Given the description of an element on the screen output the (x, y) to click on. 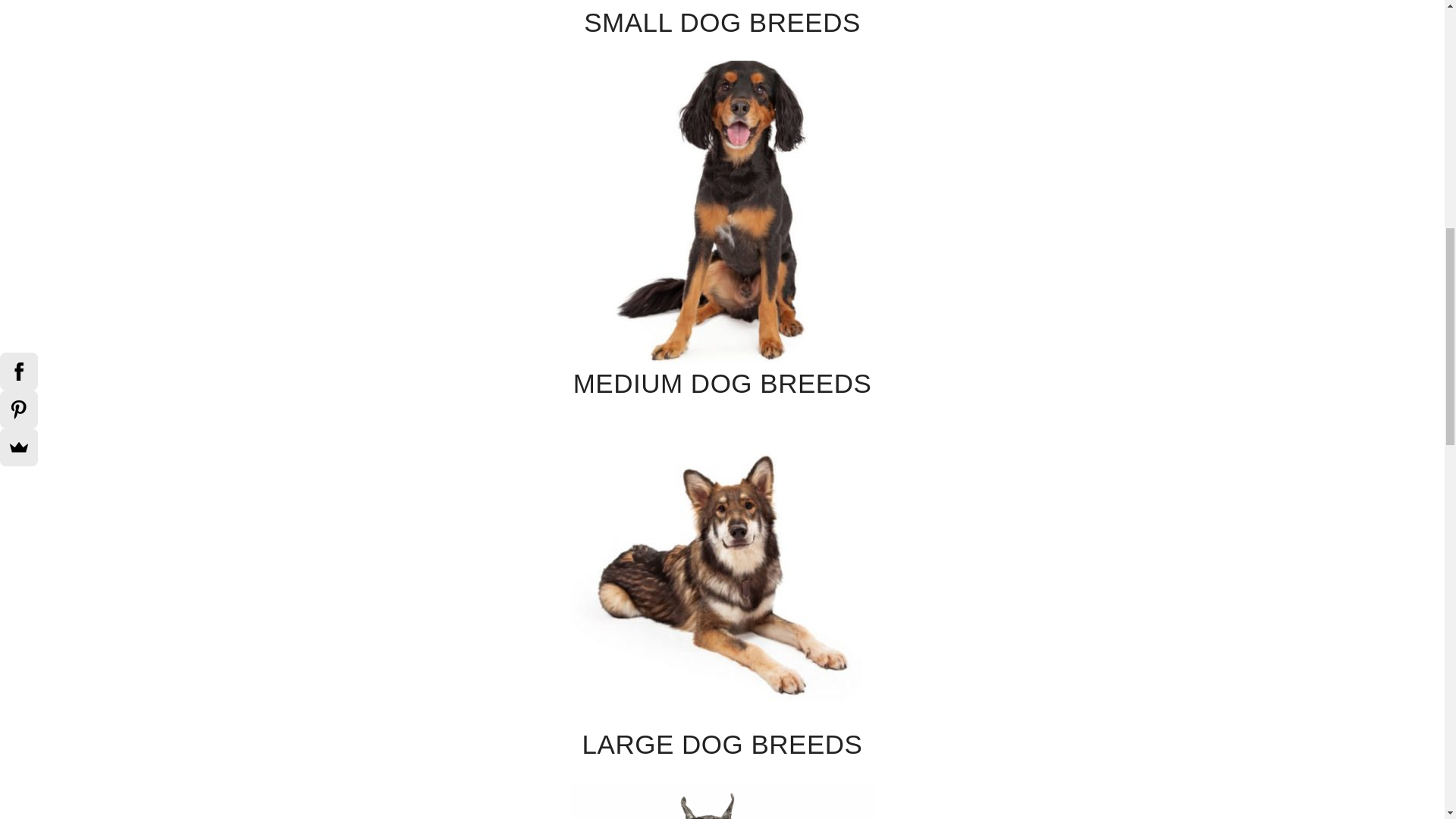
LARGE DOG BREEDS (722, 667)
SMALL DOG BREEDS (722, 24)
MEDIUM DOG BREEDS (722, 306)
